Given the description of an element on the screen output the (x, y) to click on. 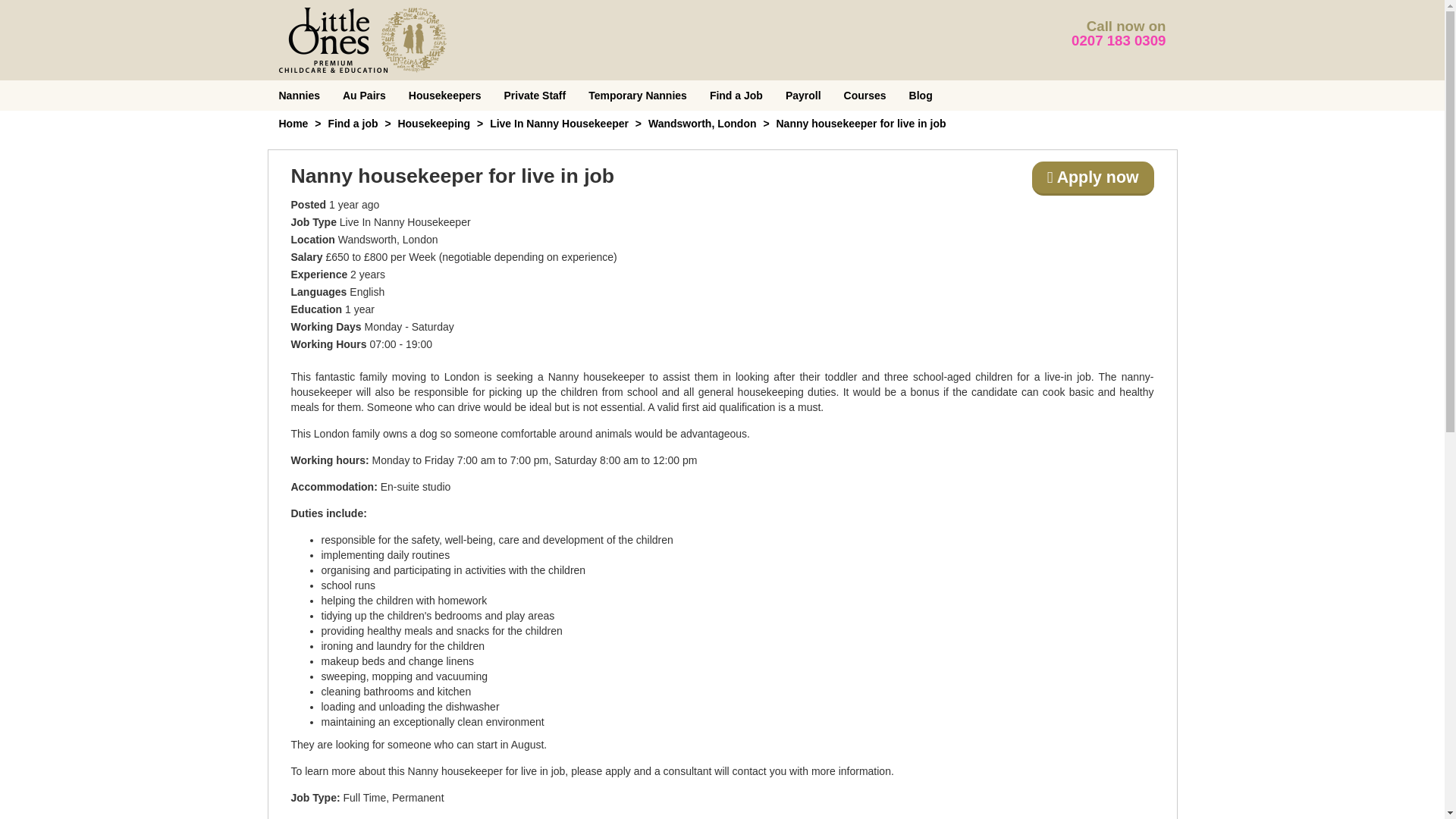
0207 183 0309 (1118, 40)
Au Pairs (364, 95)
Nannies (298, 95)
Housekeepers (445, 95)
